Given the description of an element on the screen output the (x, y) to click on. 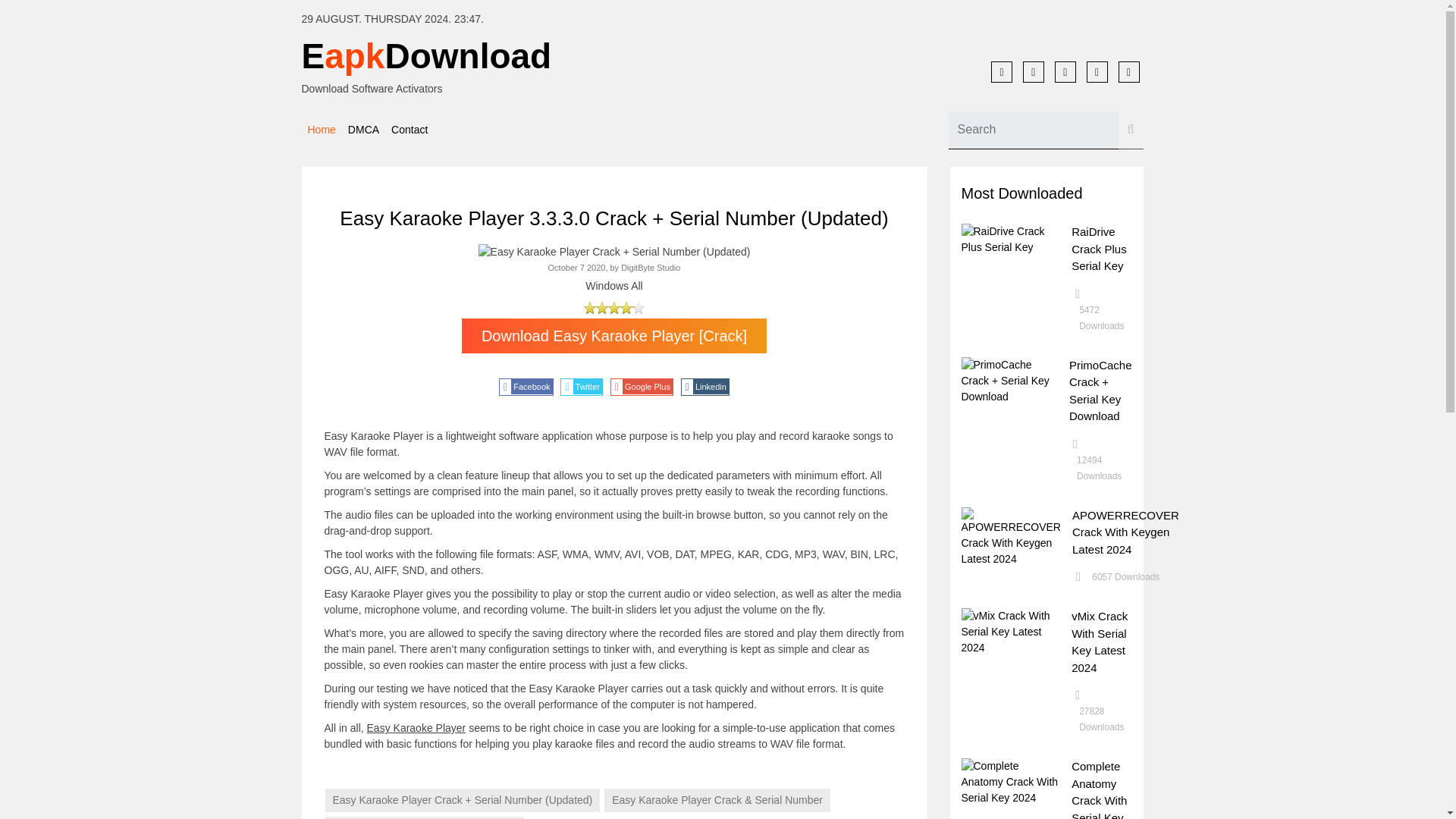
EapkDownload (506, 55)
Linkedin (705, 386)
Twitter (581, 386)
RaiDrive Crack Plus Serial Key (1098, 248)
Complete Anatomy Crack With Serial Key 2024 (1098, 789)
DMCA (363, 129)
Facebook (526, 386)
Contact (409, 129)
Google Plus (641, 386)
APOWERRECOVER Crack With Keygen Latest 2024 (1125, 531)
